Given the description of an element on the screen output the (x, y) to click on. 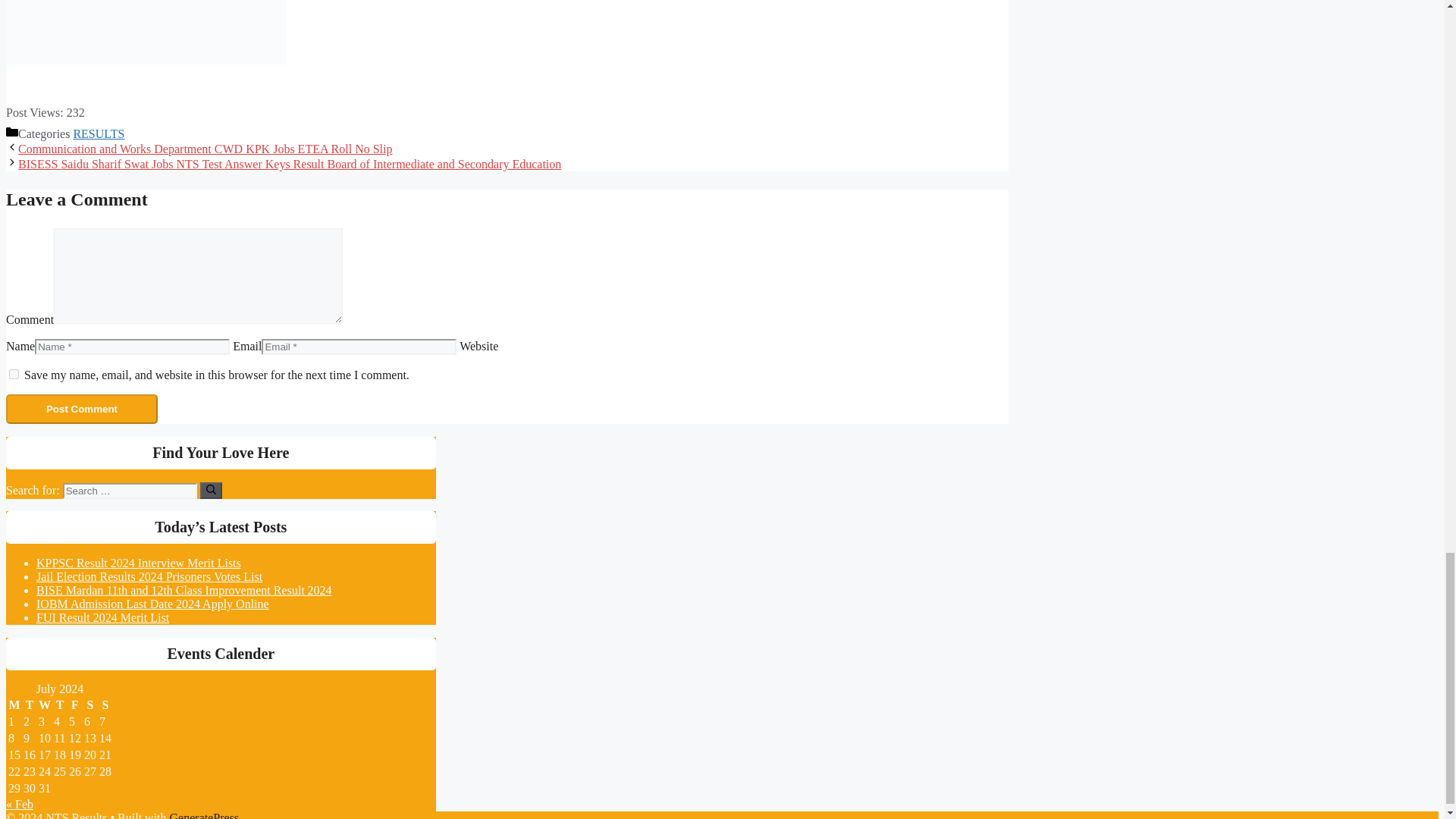
Friday (74, 704)
Monday (14, 704)
Saturday (89, 704)
Thursday (59, 704)
Wednesday (43, 704)
IOBM Admission Last Date 2024 Apply Online (152, 603)
Tuesday (29, 704)
Search for: (129, 490)
yes (13, 374)
Jail Election Results 2024 Prisoners Votes List (149, 576)
RESULTS (97, 133)
FUI Result 2024 Merit List (102, 617)
Sunday (105, 704)
BISE Mardan 11th and 12th Class Improvement Result 2024 (183, 590)
